Given the description of an element on the screen output the (x, y) to click on. 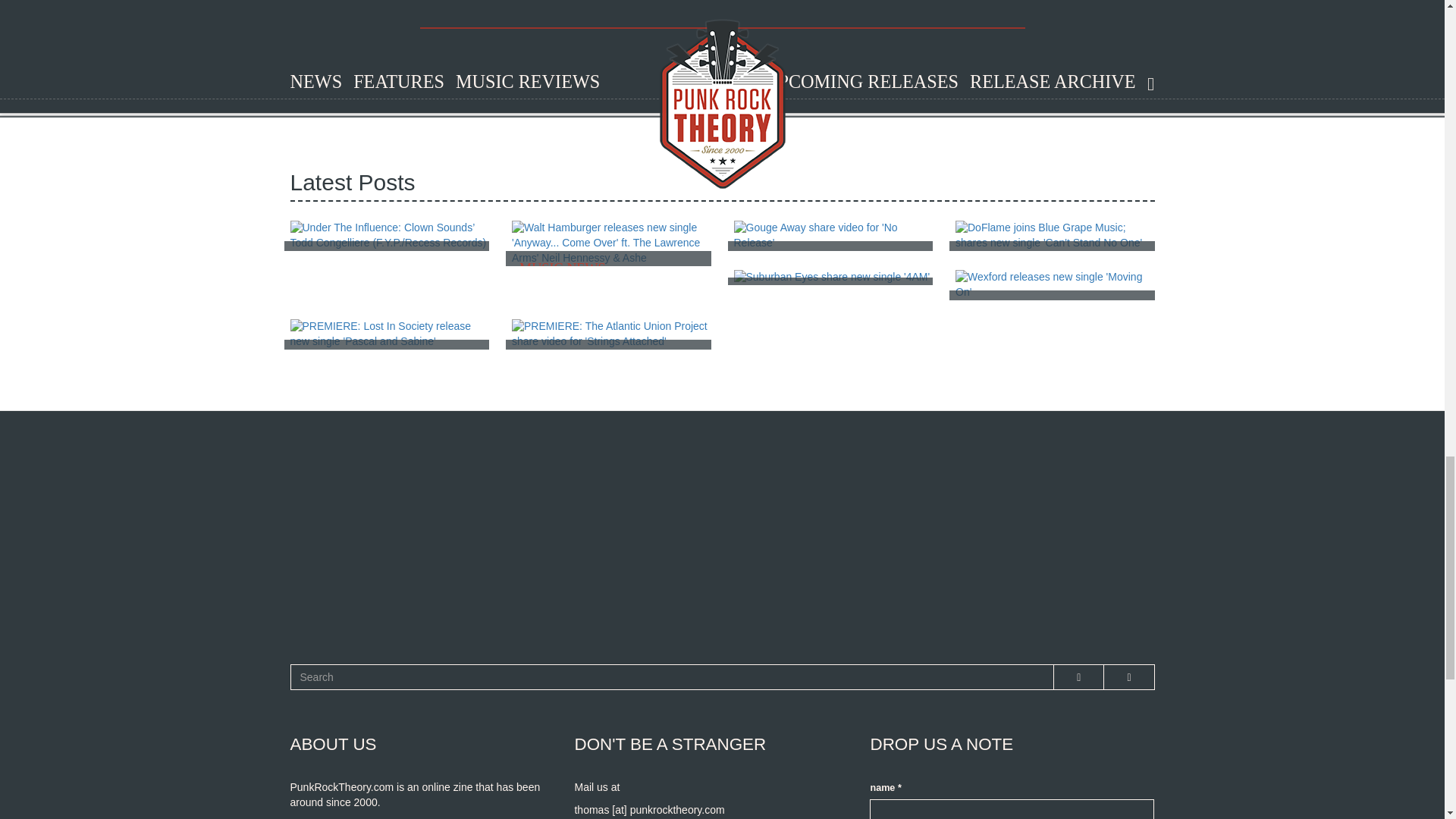
INTERVIEW (389, 235)
MUSIC NEWS (1054, 235)
MUSIC NEWS (611, 334)
MUSIC NEWS (1054, 285)
MUSIC NEWS (611, 243)
MUSIC NEWS (389, 334)
Enter the terms you wish to search for. (671, 677)
MUSIC NEWS (833, 277)
MUSIC NEWS (833, 235)
SEARCH (312, 690)
